Given the description of an element on the screen output the (x, y) to click on. 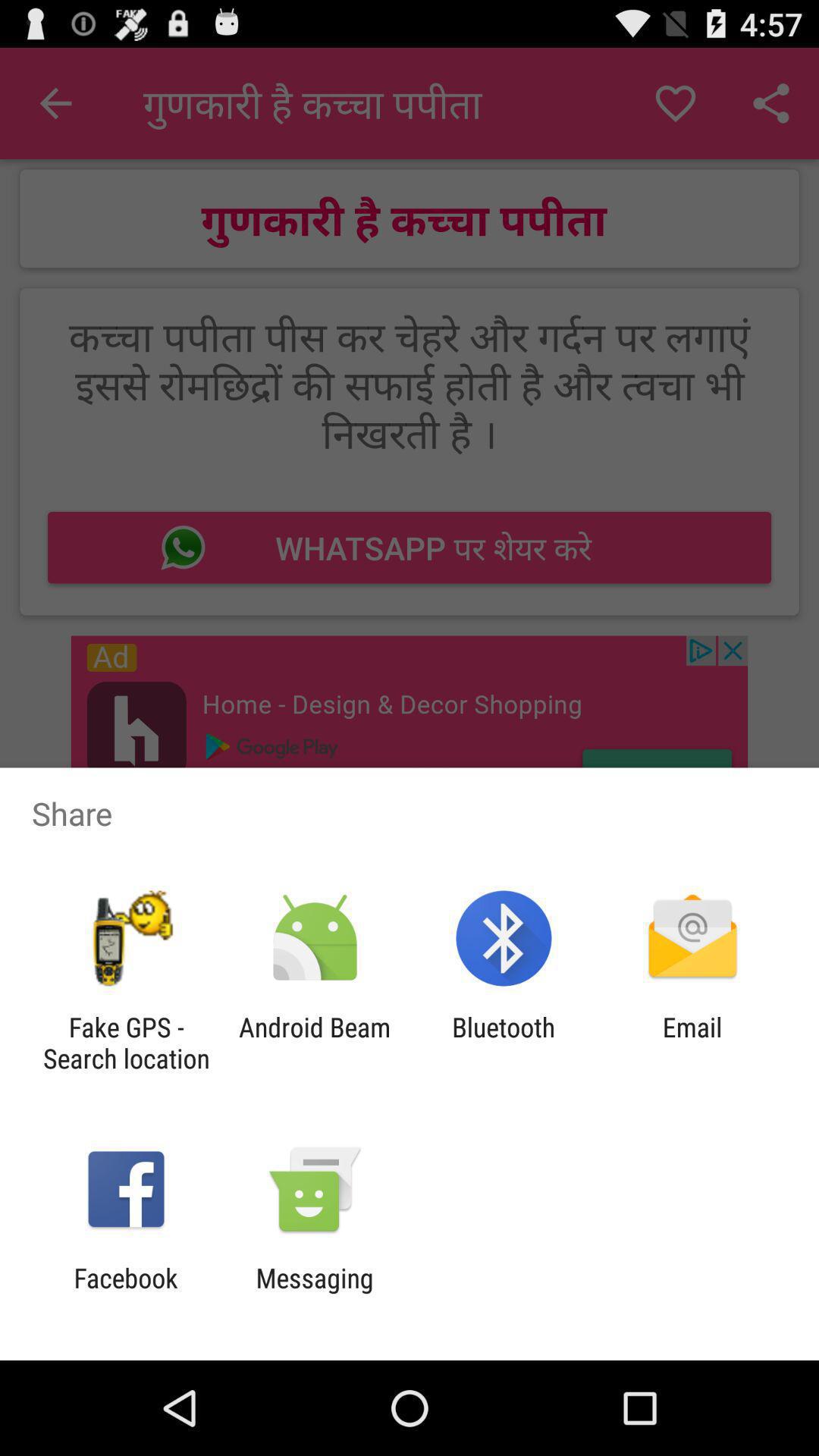
scroll to android beam (314, 1042)
